Given the description of an element on the screen output the (x, y) to click on. 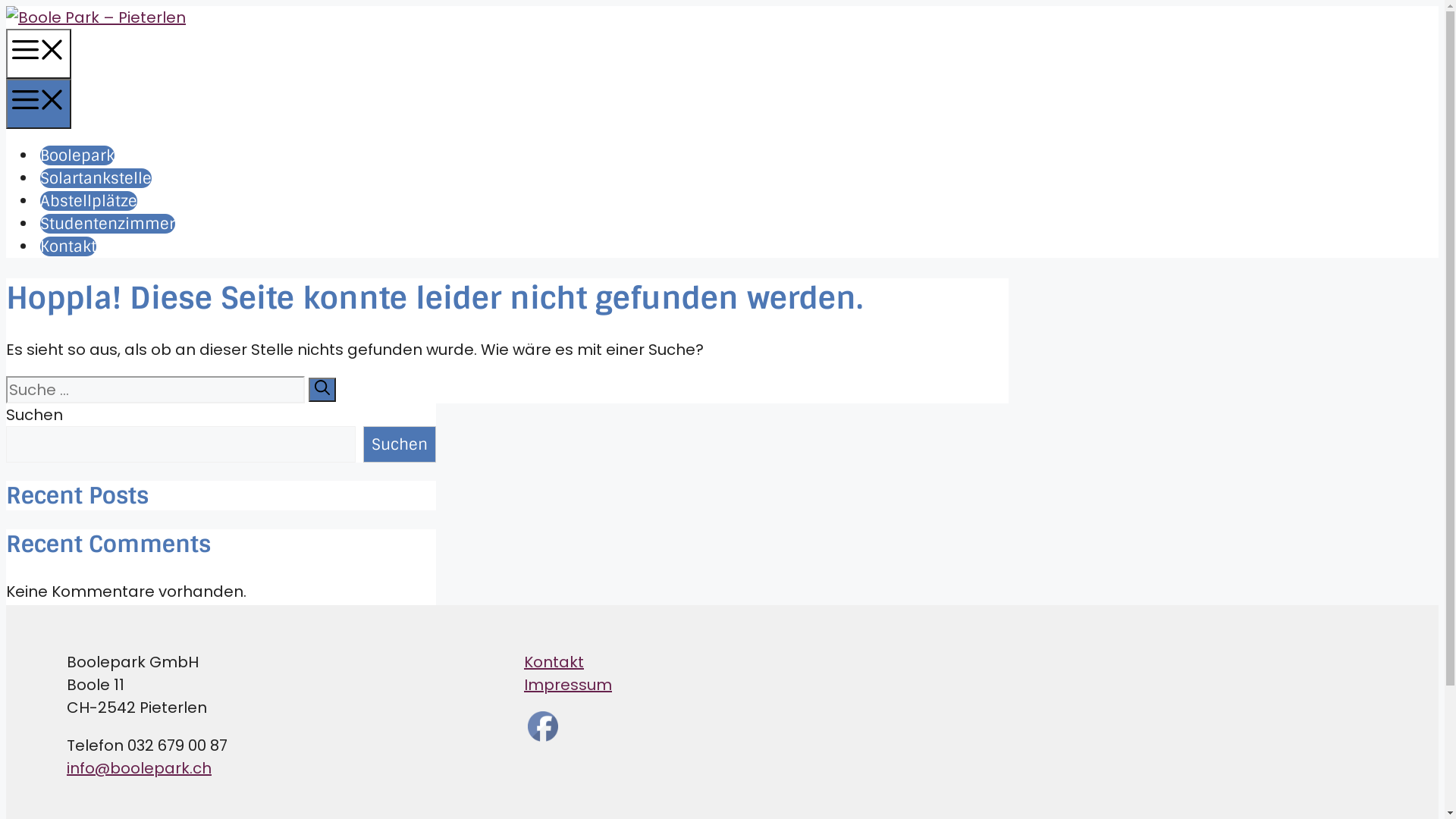
info@boolepark.ch Element type: text (138, 767)
Kontakt Element type: text (68, 246)
Boolepark Element type: text (77, 155)
Studentenzimmer Element type: text (107, 223)
Impressum Element type: text (567, 684)
Suchen Element type: text (399, 444)
Suche nach: Element type: hover (155, 389)
Solartankstelle Element type: text (95, 178)
Facebook Element type: hover (542, 726)
Kontakt Element type: text (553, 661)
Zum Inhalt springen Element type: text (5, 5)
